Given the description of an element on the screen output the (x, y) to click on. 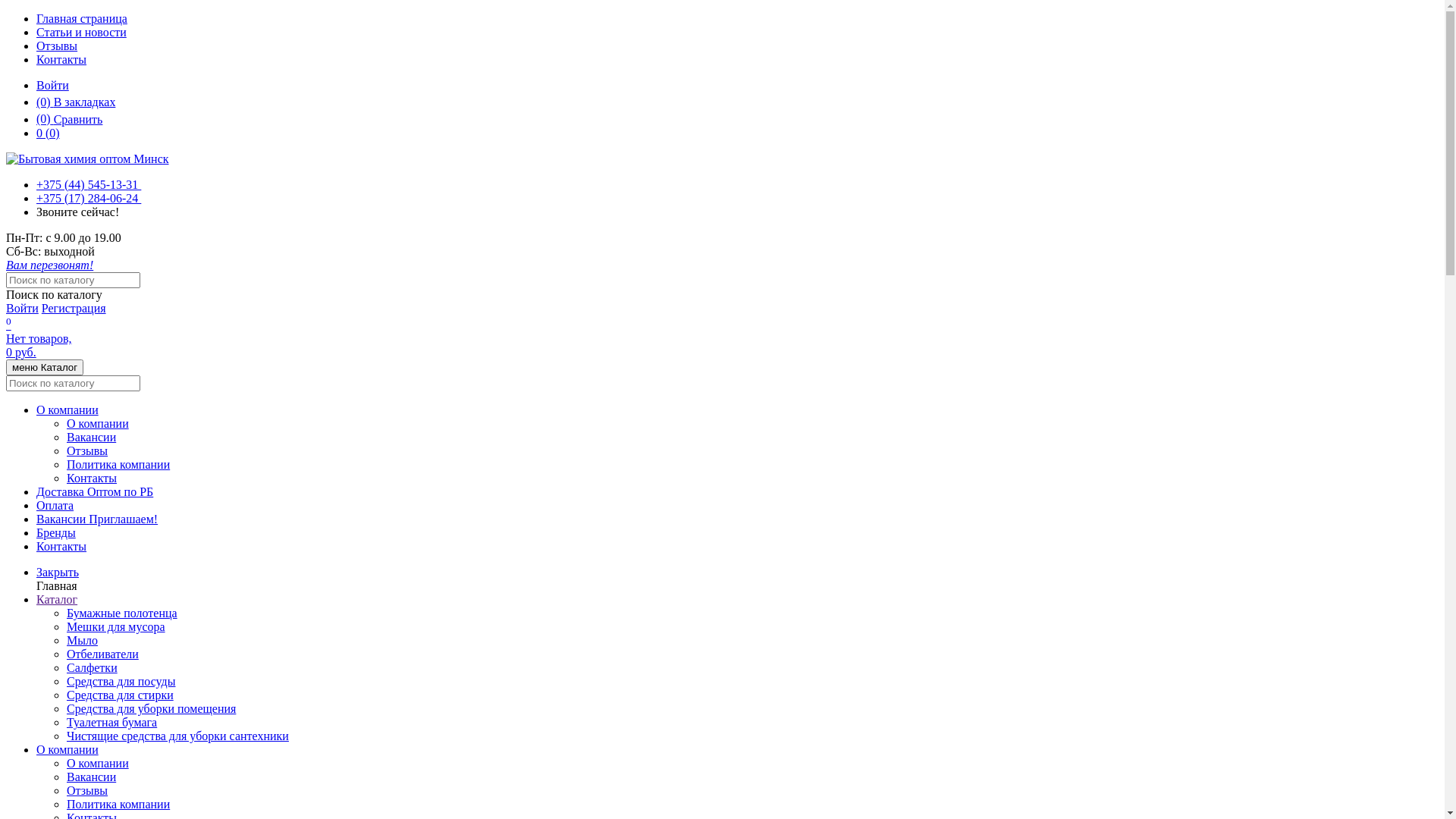
0 Element type: text (8, 324)
0 (0) Element type: text (47, 132)
+375 (17) 284-06-24 Element type: text (88, 197)
+375 (44) 545-13-31 Element type: text (88, 184)
